Given the description of an element on the screen output the (x, y) to click on. 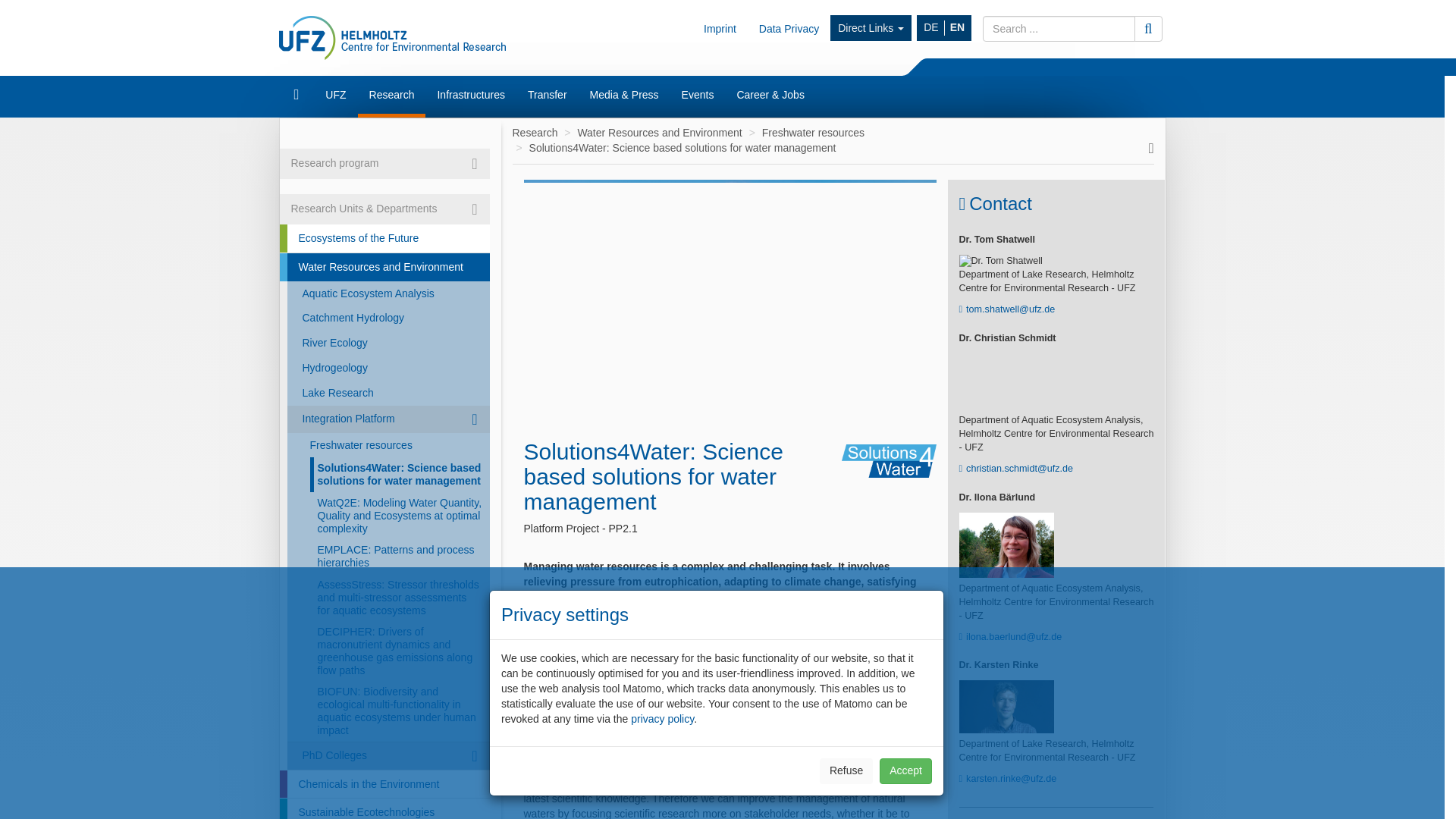
Dr. Karsten Rinke (1005, 706)
Dr. Tom Shatwell (1005, 261)
logo: Solutions4Water (888, 460)
Direct Links (870, 27)
DE (930, 28)
EN (956, 28)
search term (1058, 28)
Imprint (720, 28)
Data Privacy (788, 28)
Dr. Christian Schmidt (1005, 380)
link privacy policy (662, 718)
